Given the description of an element on the screen output the (x, y) to click on. 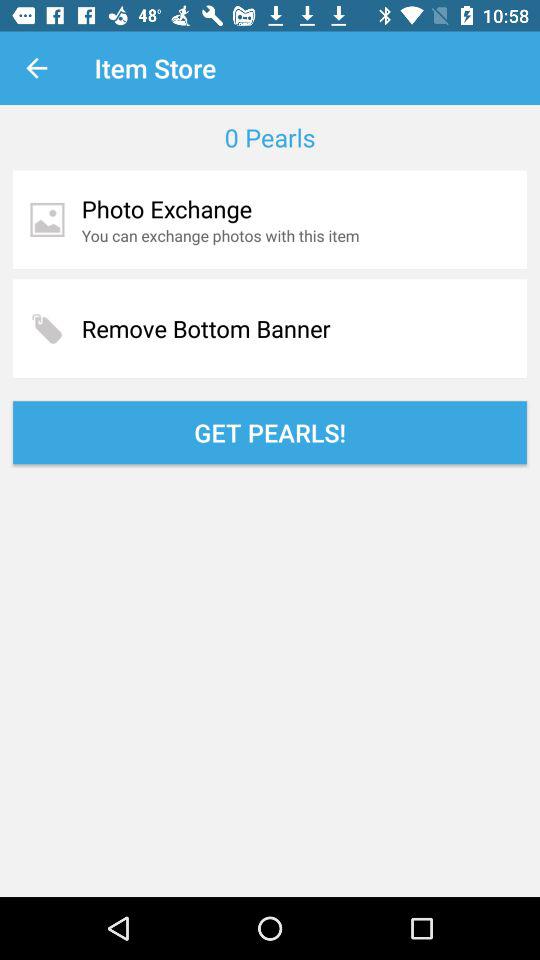
launch get pearls! item (269, 432)
